Given the description of an element on the screen output the (x, y) to click on. 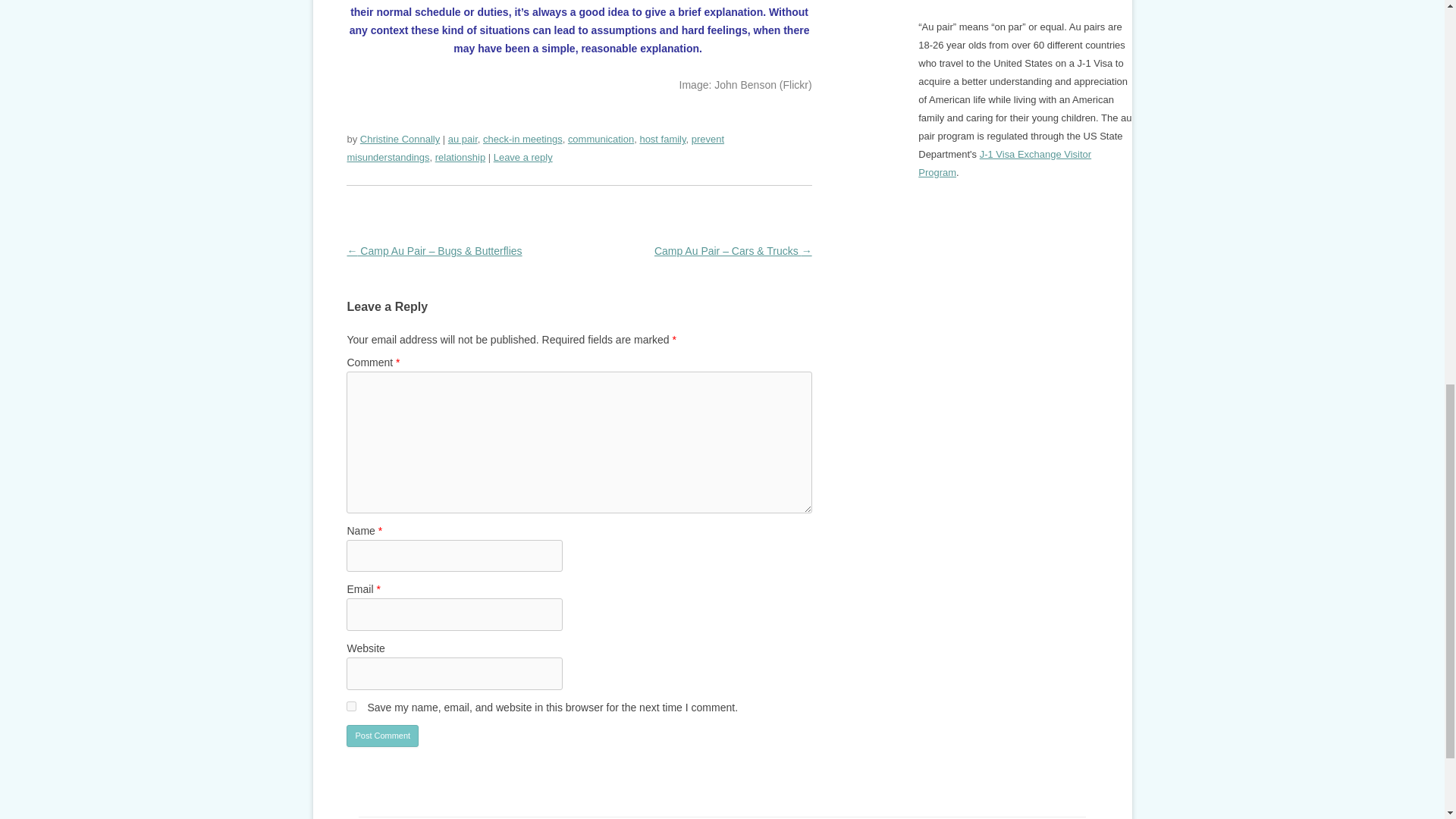
au pair (462, 138)
Post Comment (382, 735)
yes (351, 706)
check-in meetings (522, 138)
host family (662, 138)
communication (600, 138)
relationship (459, 156)
Leave a reply (523, 156)
Post Comment (382, 735)
Christine Connally (399, 138)
prevent misunderstandings (534, 147)
